Given the description of an element on the screen output the (x, y) to click on. 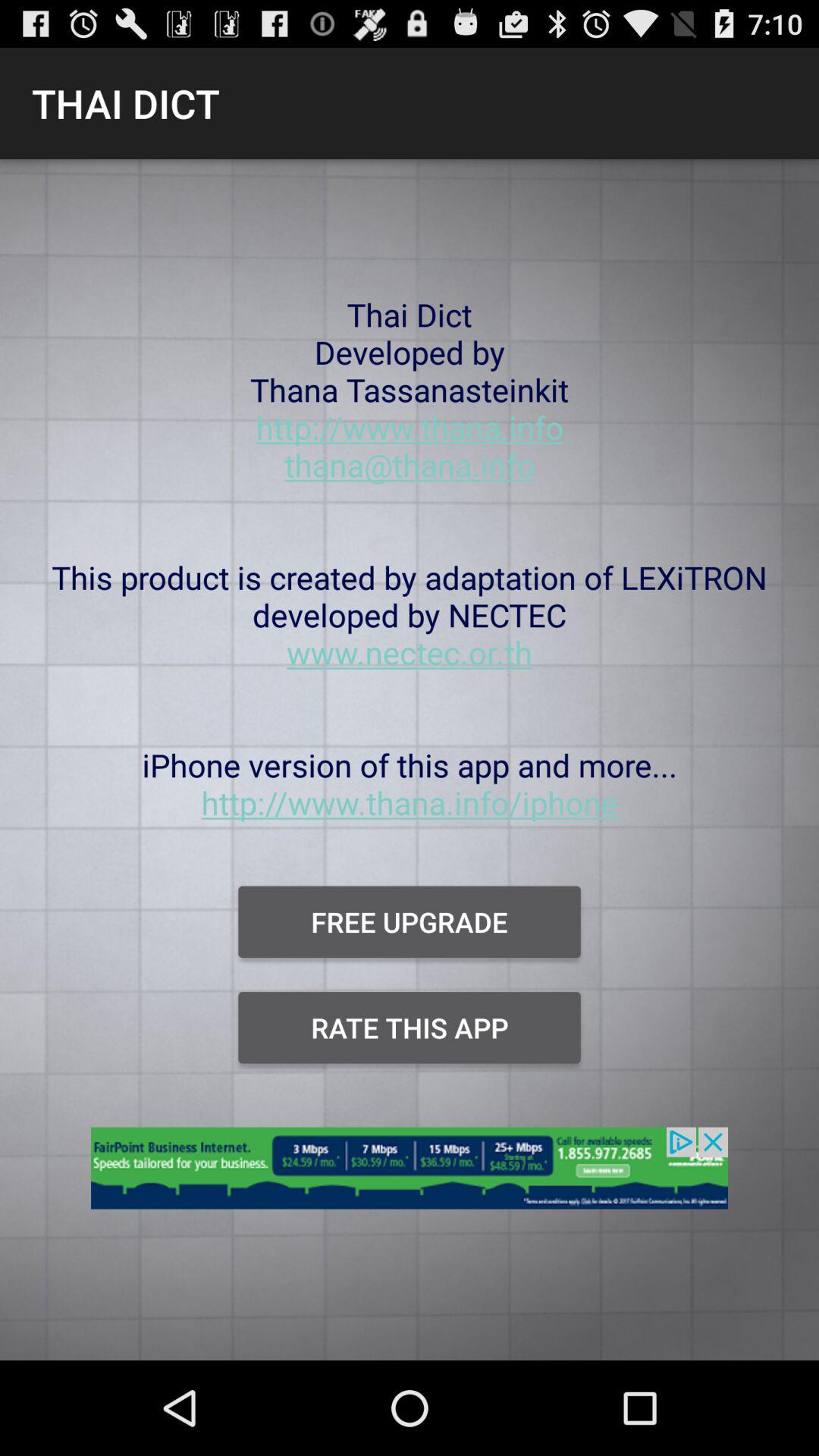
advertisement (409, 1176)
